Given the description of an element on the screen output the (x, y) to click on. 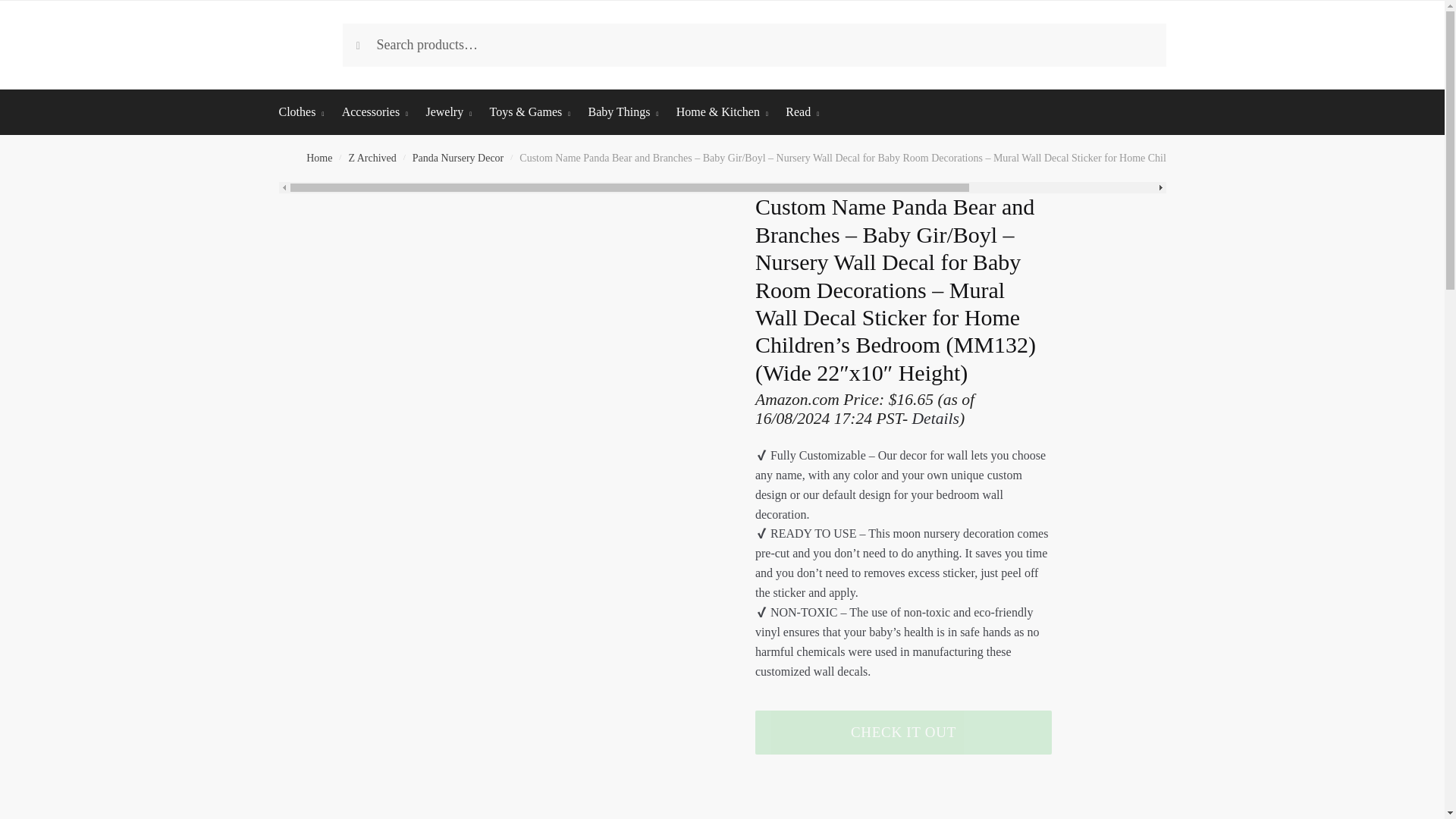
Jewelry (448, 112)
Accessories (374, 112)
Search (373, 38)
Clothes (306, 112)
